Given the description of an element on the screen output the (x, y) to click on. 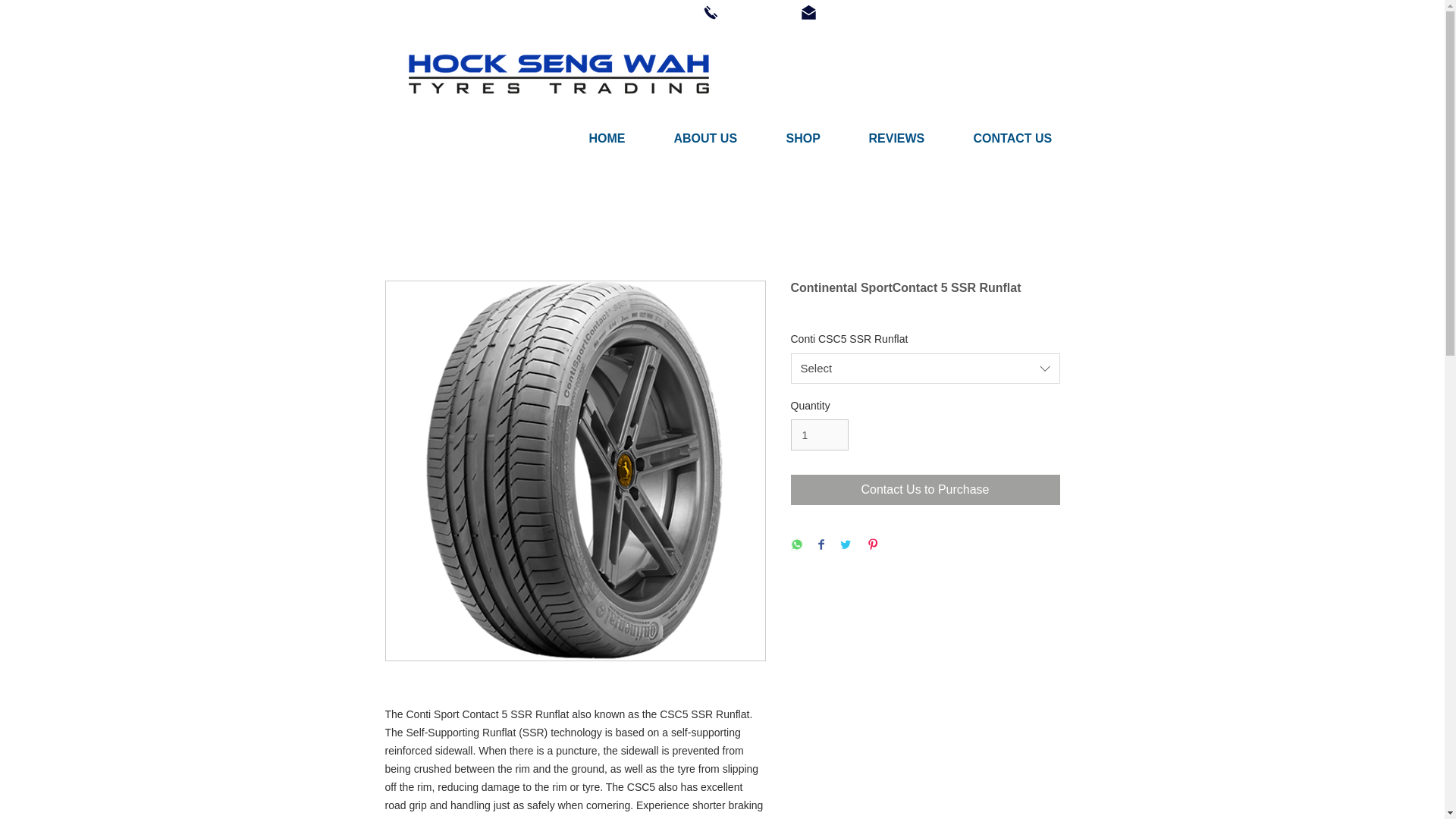
REVIEWS (913, 138)
CONTACT US (1029, 138)
ABOUT US (721, 138)
HOME (622, 138)
Select (924, 368)
SHOP (818, 138)
Contact Us to Purchase (924, 490)
1 (818, 434)
